Given the description of an element on the screen output the (x, y) to click on. 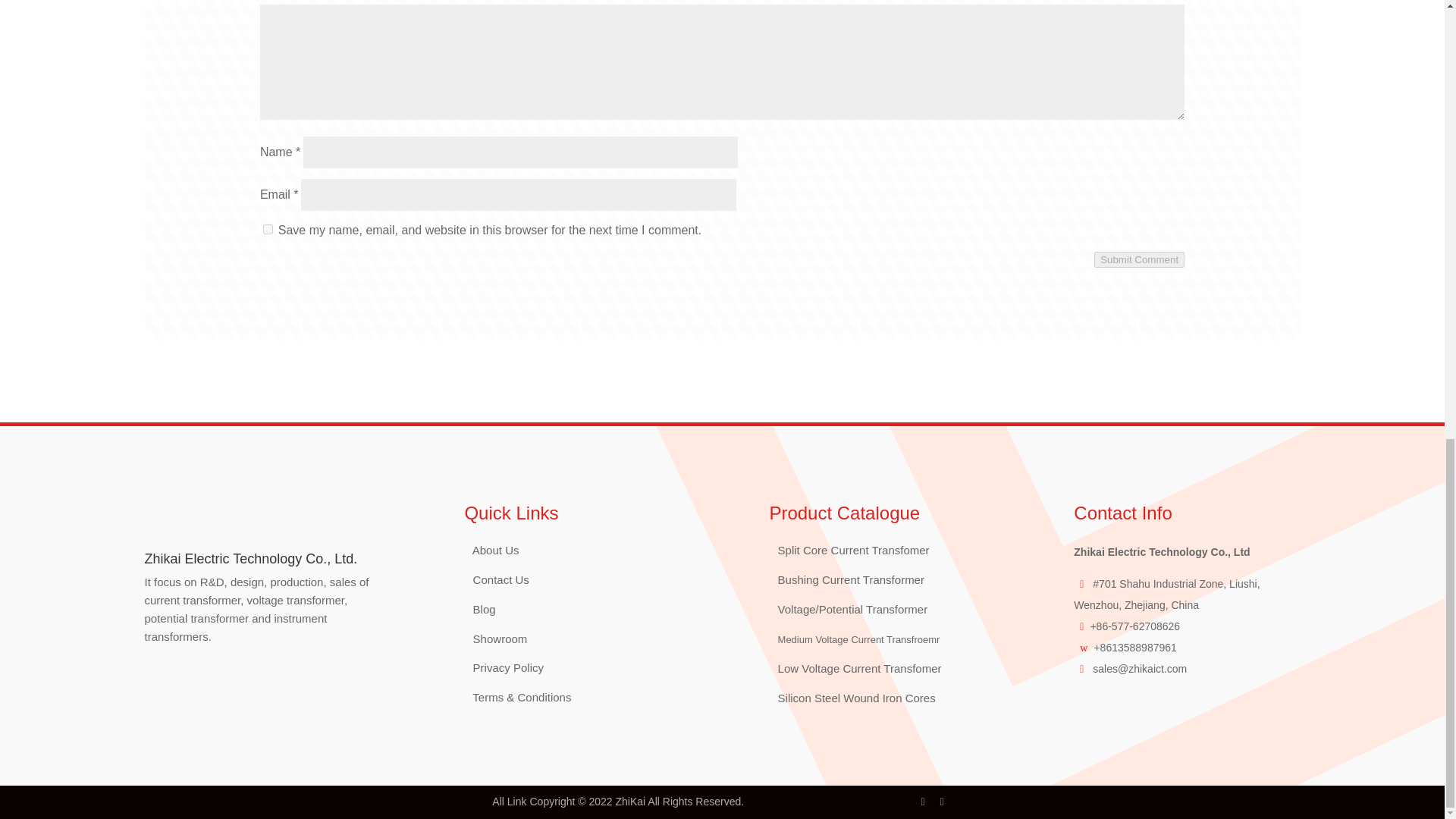
Low Voltage Current Transfomer (859, 667)
Showroom (500, 638)
Bushing Current Transformer (850, 579)
Split Core Current Transfomer (853, 549)
Blog (484, 608)
yes (268, 229)
About Us (493, 549)
Submit Comment (1139, 259)
Silicon Steel Wound Iron Cores (856, 697)
Contact Us (501, 579)
